Given the description of an element on the screen output the (x, y) to click on. 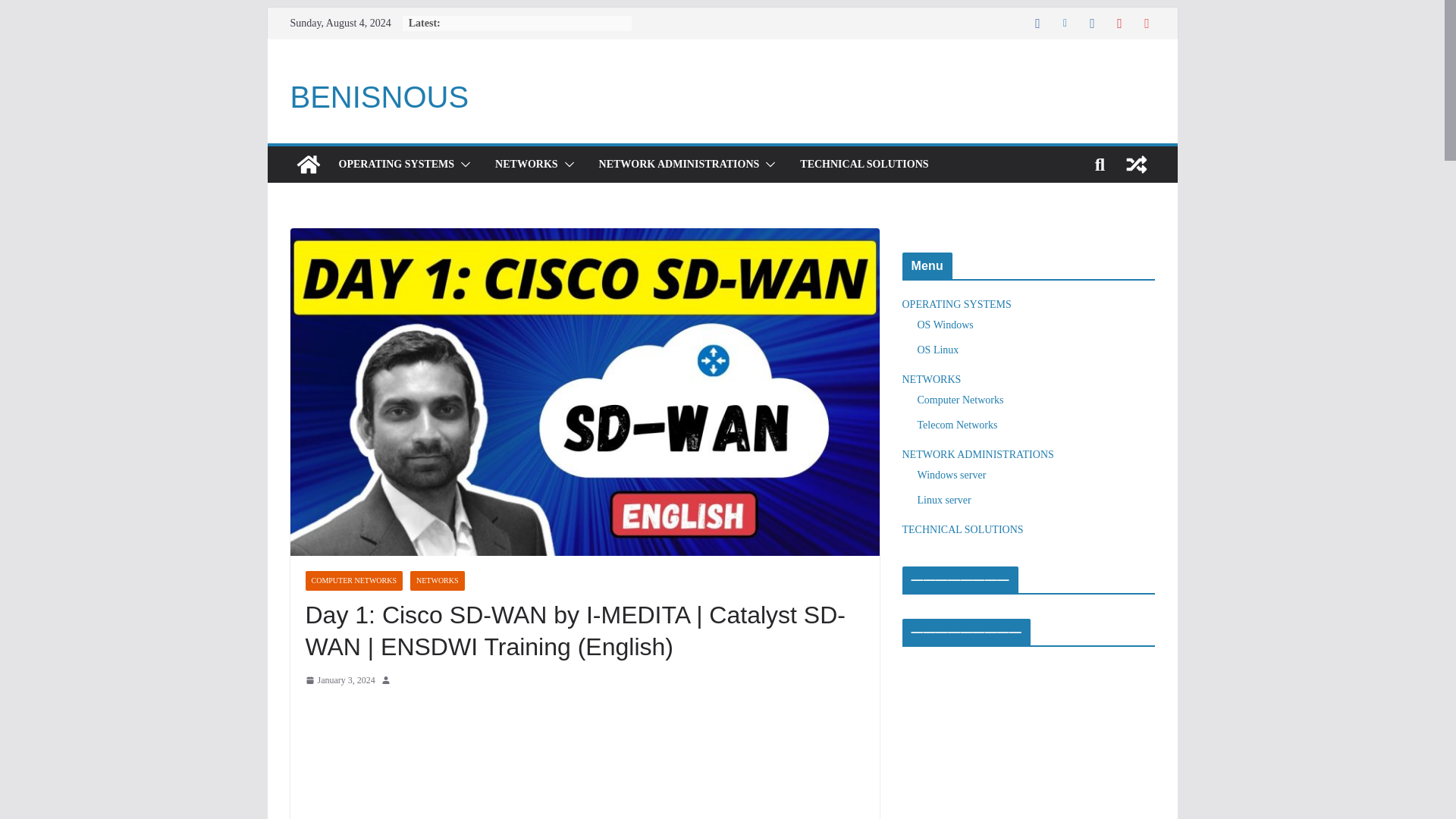
January 3, 2024 (339, 680)
TECHNICAL SOLUTIONS (863, 164)
View a random post (1136, 164)
10:18 am (339, 680)
NETWORKS (437, 580)
BENISNOUS (378, 96)
OPERATING SYSTEMS (395, 164)
COMPUTER NETWORKS (353, 580)
BENISNOUS (307, 164)
NETWORKS (526, 164)
BENISNOUS (378, 96)
NETWORK ADMINISTRATIONS (679, 164)
